Given the description of an element on the screen output the (x, y) to click on. 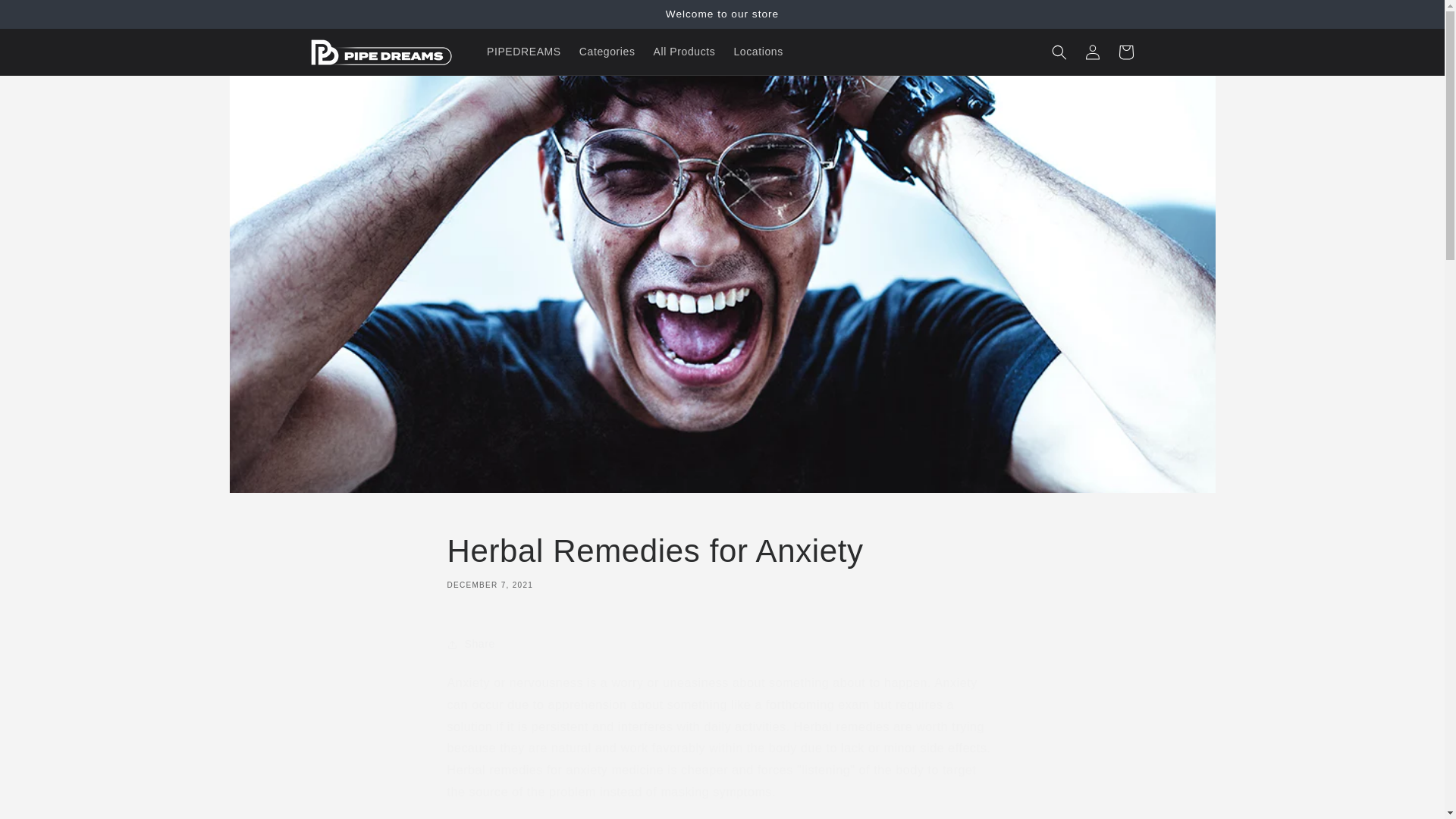
Locations (757, 51)
Cart (1124, 51)
Log in (1091, 51)
Share (721, 559)
Skip to content (721, 644)
Categories (45, 17)
PIPEDREAMS (607, 51)
All Products (523, 51)
